Given the description of an element on the screen output the (x, y) to click on. 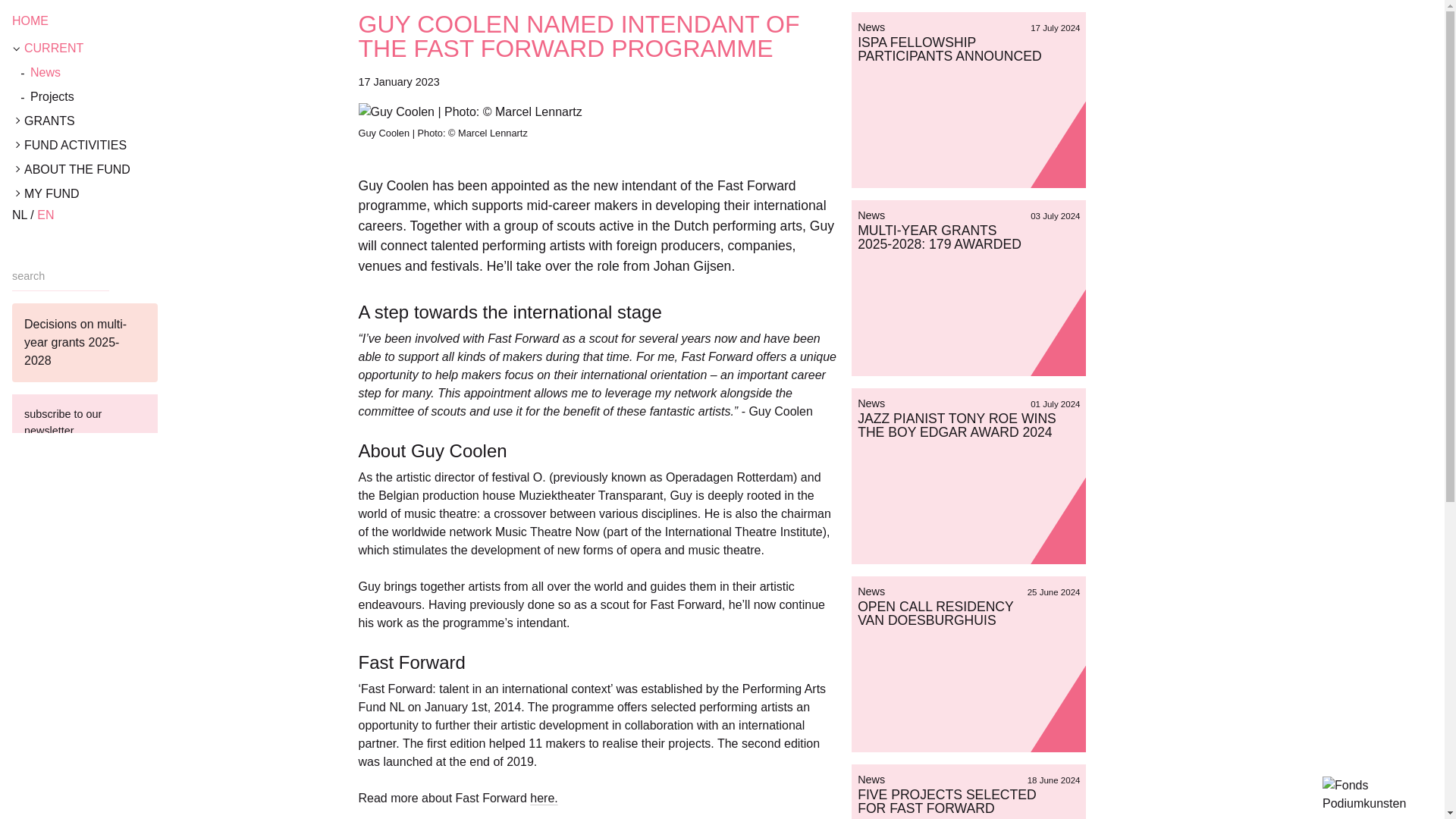
ABOUT THE FUND (132, 169)
Projects (133, 96)
FIVE PROJECTS SELECTED FOR FAST FORWARD (946, 801)
GRANTS (132, 120)
ok (123, 472)
ISPA FELLOWSHIP PARTICIPANTS ANNOUNCED (949, 49)
News (133, 72)
MY FUND (132, 193)
FUND ACTIVITIES (132, 145)
Decisions on multi-year grants 2025-2028 (84, 342)
Projects (133, 96)
News (133, 72)
Fund activities (132, 145)
JAZZ PIANIST TONY ROE WINS THE BOY EDGAR AWARD 2024 (957, 425)
Grants (132, 120)
